Given the description of an element on the screen output the (x, y) to click on. 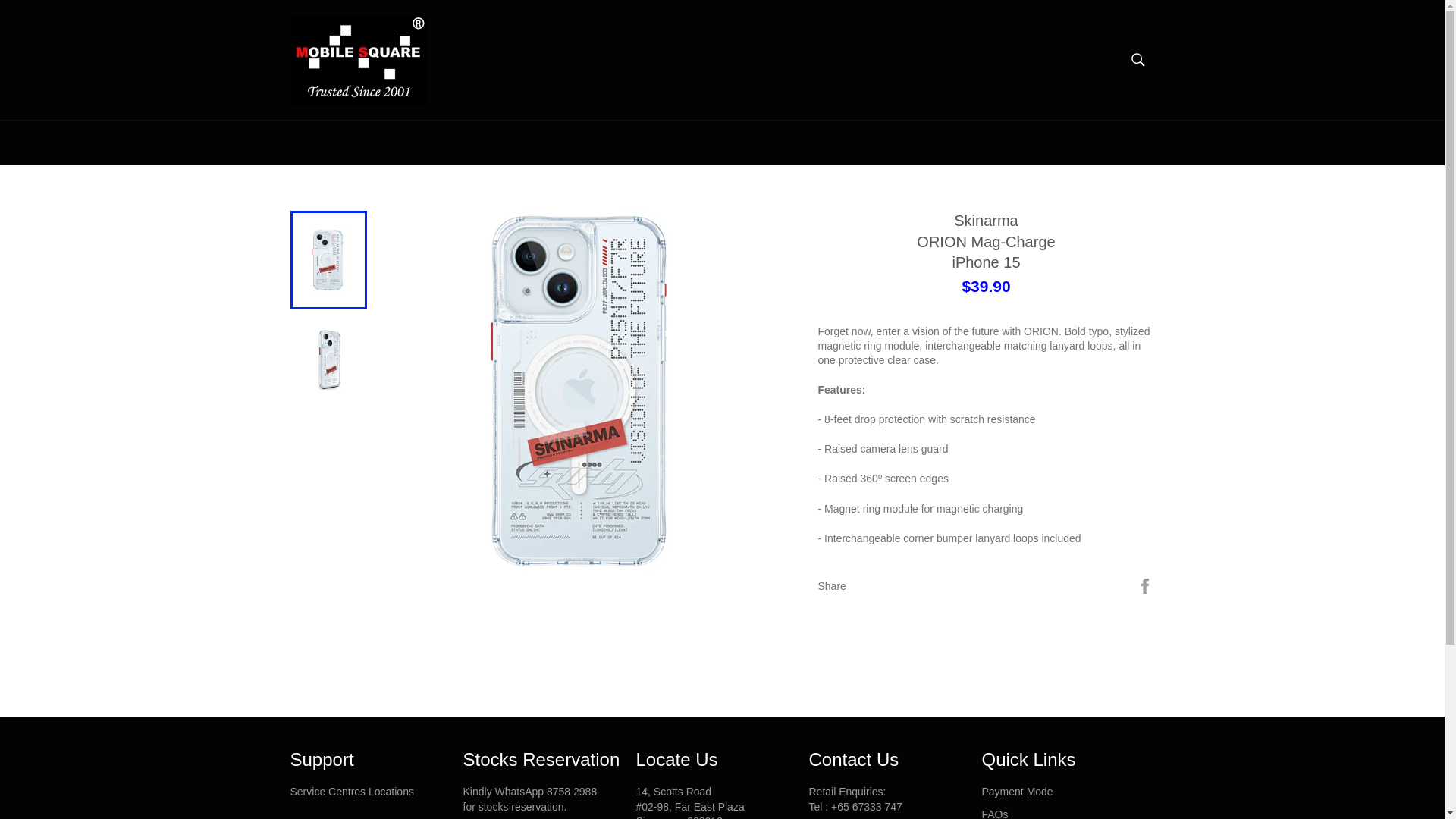
Service Centres (351, 791)
Search (1138, 60)
Share on Facebook (1144, 585)
